Given the description of an element on the screen output the (x, y) to click on. 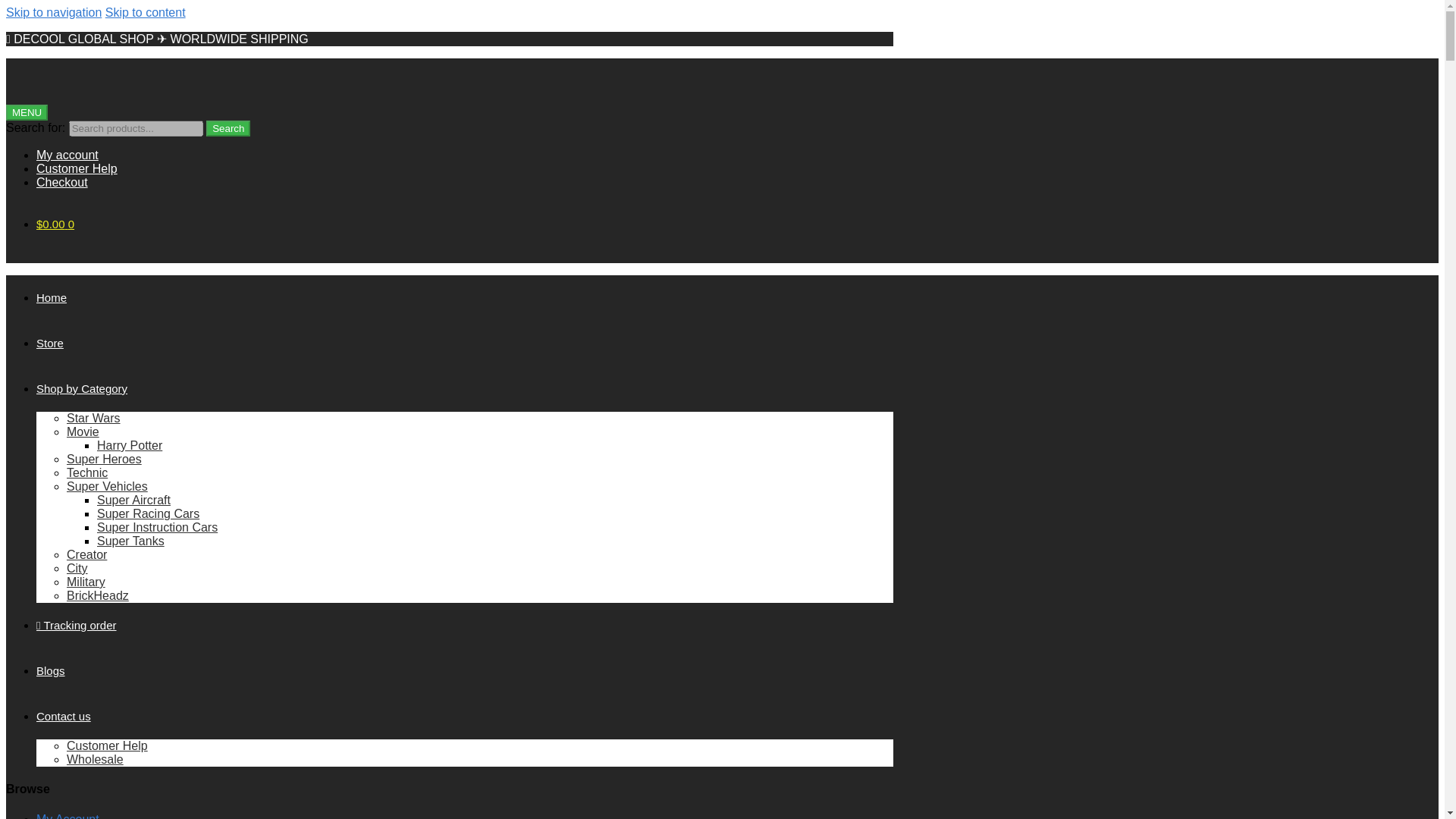
Super Instruction Cars (156, 526)
City (76, 567)
Technic (86, 472)
Military (85, 581)
My Account (67, 816)
Shop by Category (82, 388)
MENU (26, 112)
Super Aircraft (133, 499)
Home (51, 297)
Super Tanks (130, 540)
Contact us (63, 716)
Customer Help (107, 745)
Skip to content (145, 11)
Super Racing Cars (148, 513)
BrickHeadz (97, 594)
